Given the description of an element on the screen output the (x, y) to click on. 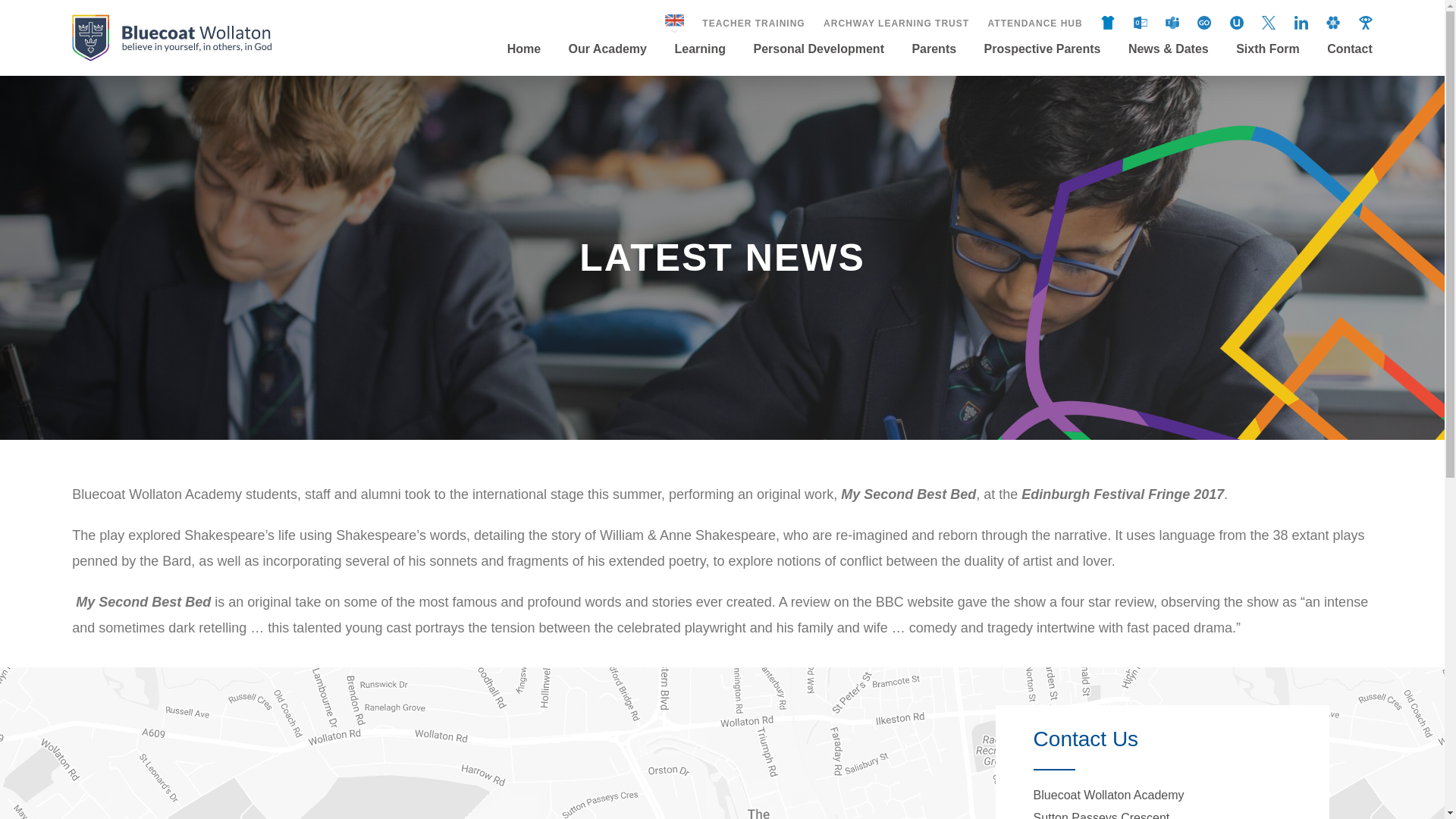
ATTENDANCE HUB (1034, 22)
TEACHER TRAINING (753, 22)
ARCHWAY LEARNING TRUST (895, 22)
Home (529, 66)
Our Academy (607, 66)
